Given the description of an element on the screen output the (x, y) to click on. 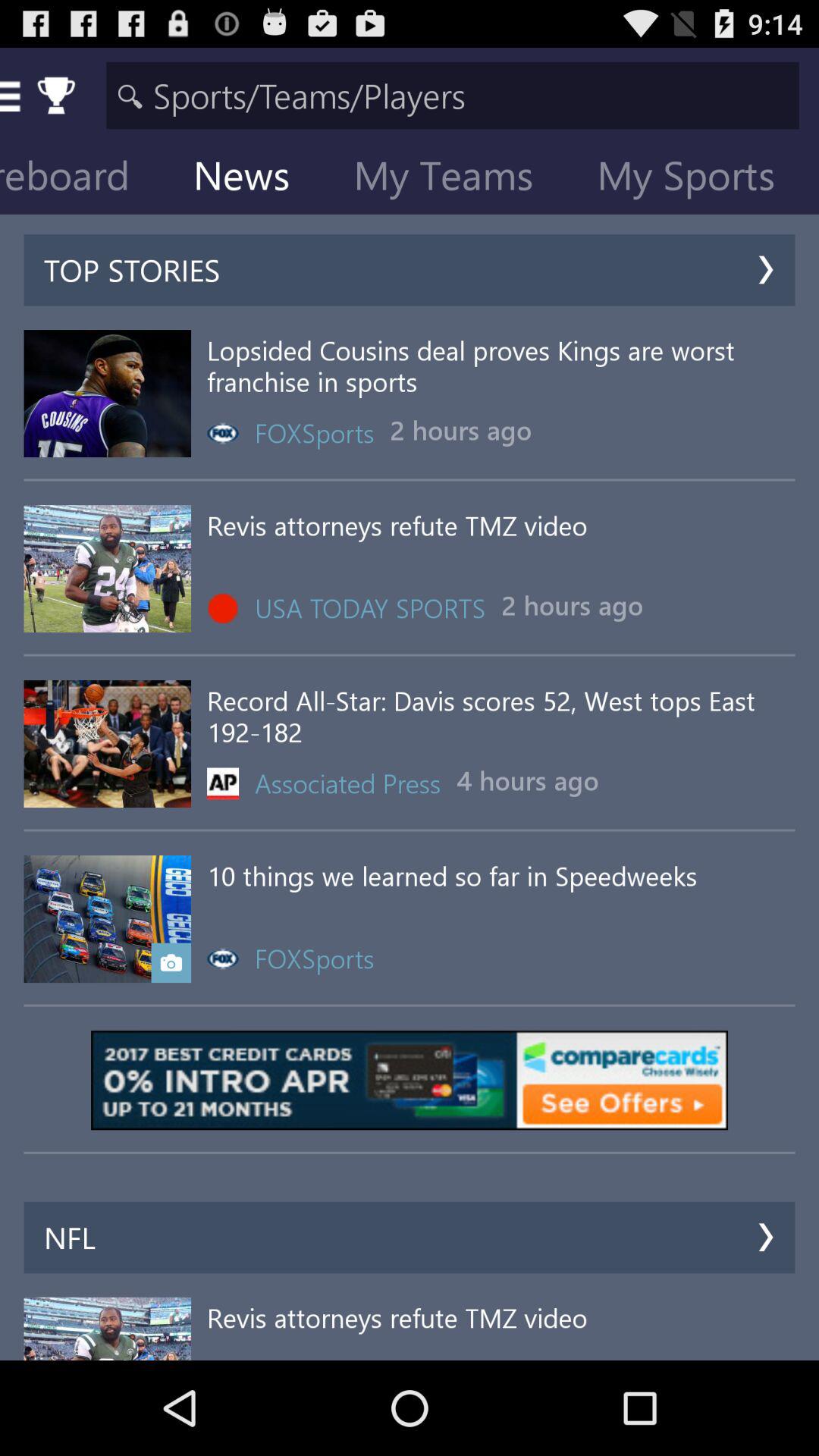
enter word to search (452, 95)
